Given the description of an element on the screen output the (x, y) to click on. 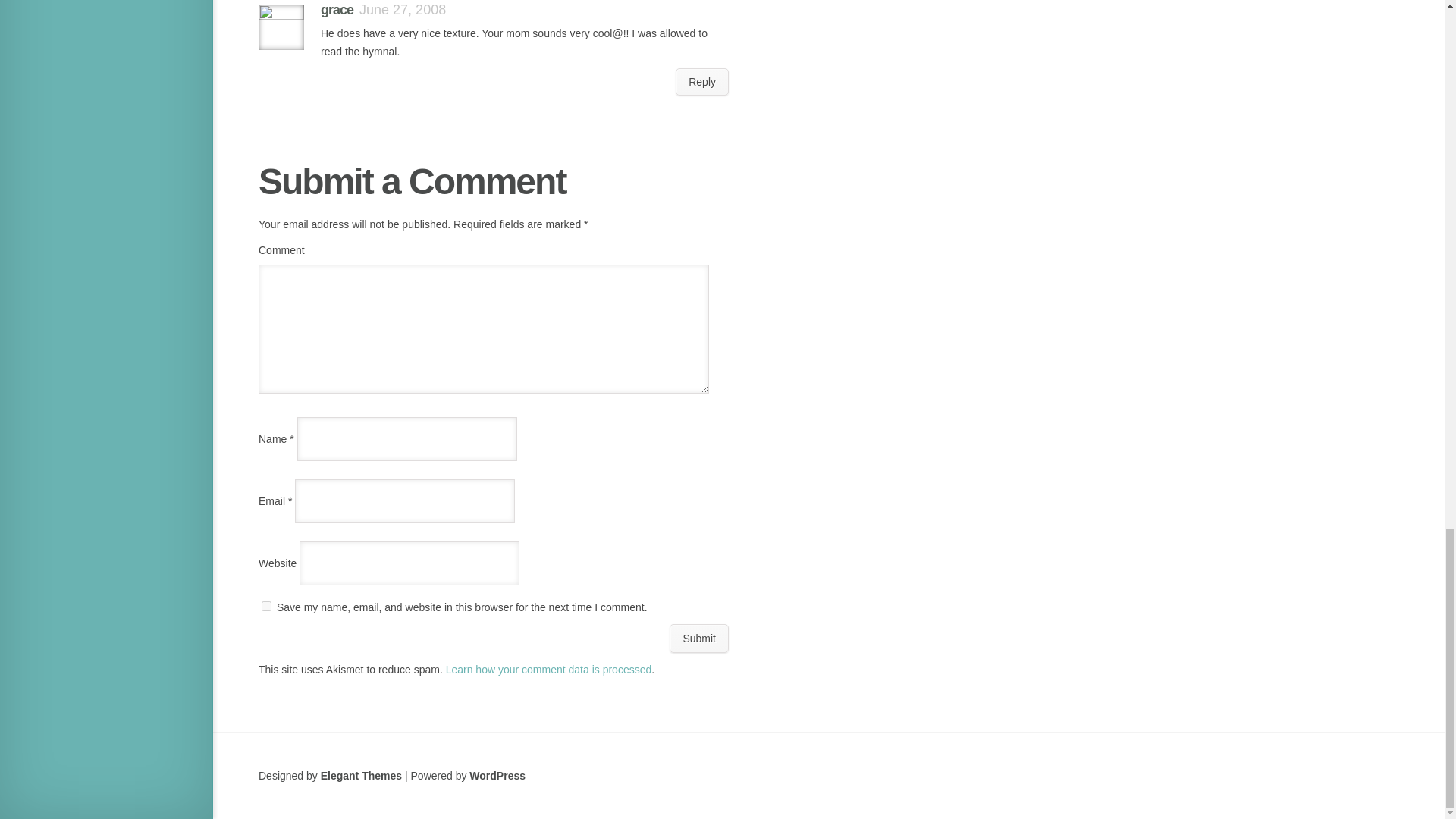
yes (266, 605)
Submit (699, 638)
WordPress (496, 775)
Submit (699, 638)
Learn how your comment data is processed (548, 669)
Reply (702, 81)
Elegant Themes (360, 775)
Premium WordPress Themes (360, 775)
